Given the description of an element on the screen output the (x, y) to click on. 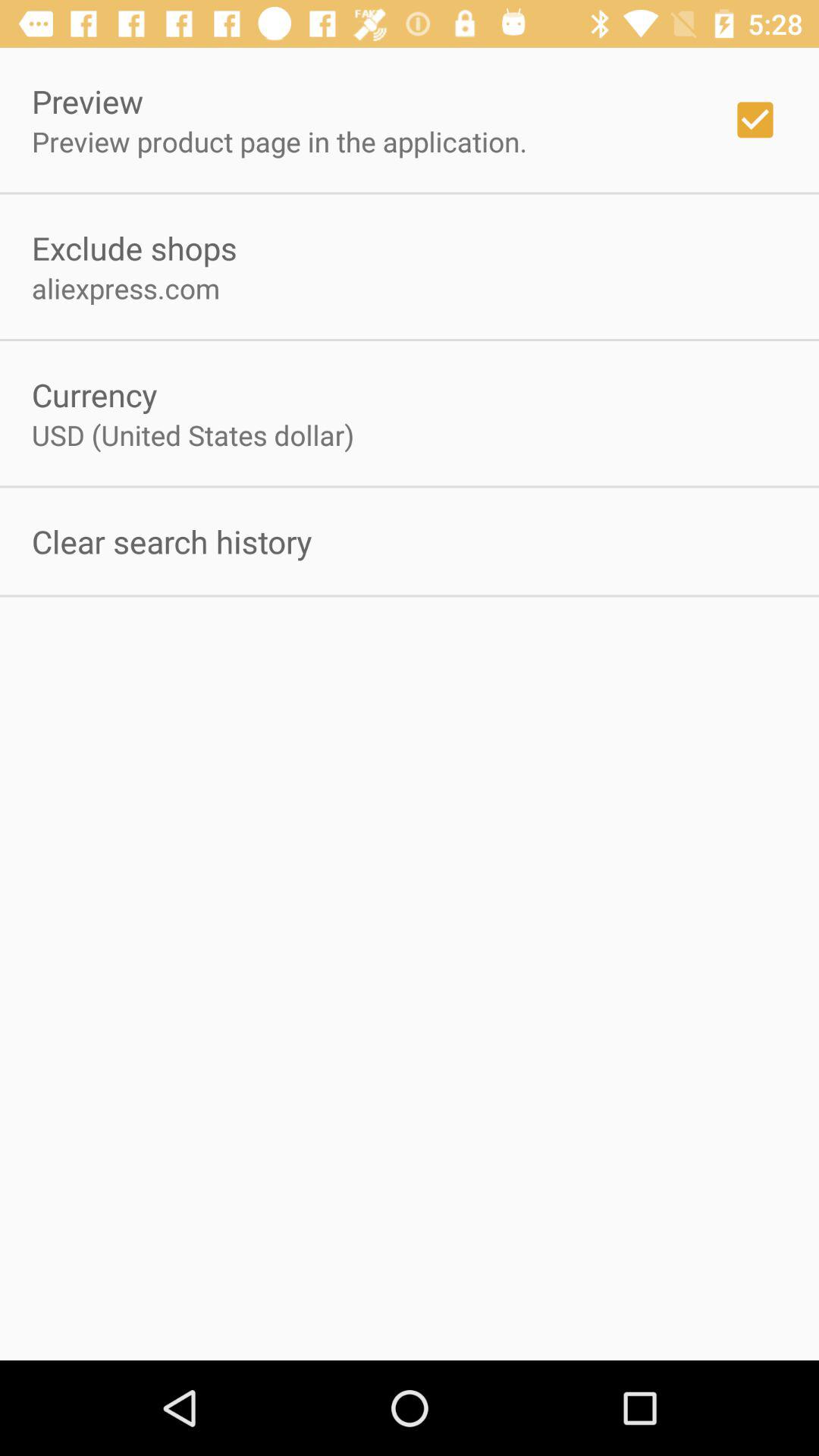
select item below the preview product page icon (134, 247)
